Given the description of an element on the screen output the (x, y) to click on. 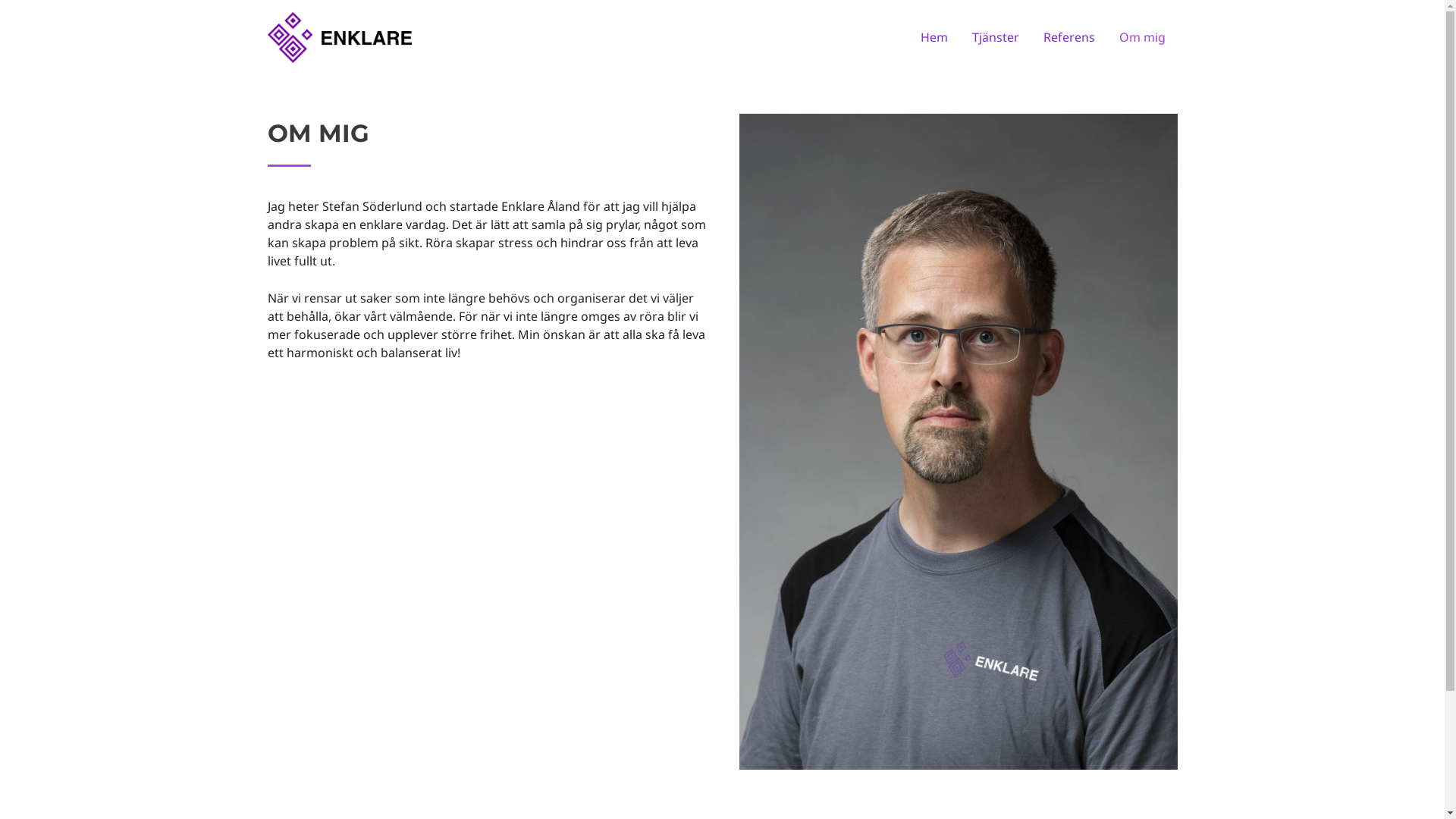
Referens Element type: text (1069, 36)
Om mig Element type: text (1142, 36)
Hem Element type: text (934, 36)
